Given the description of an element on the screen output the (x, y) to click on. 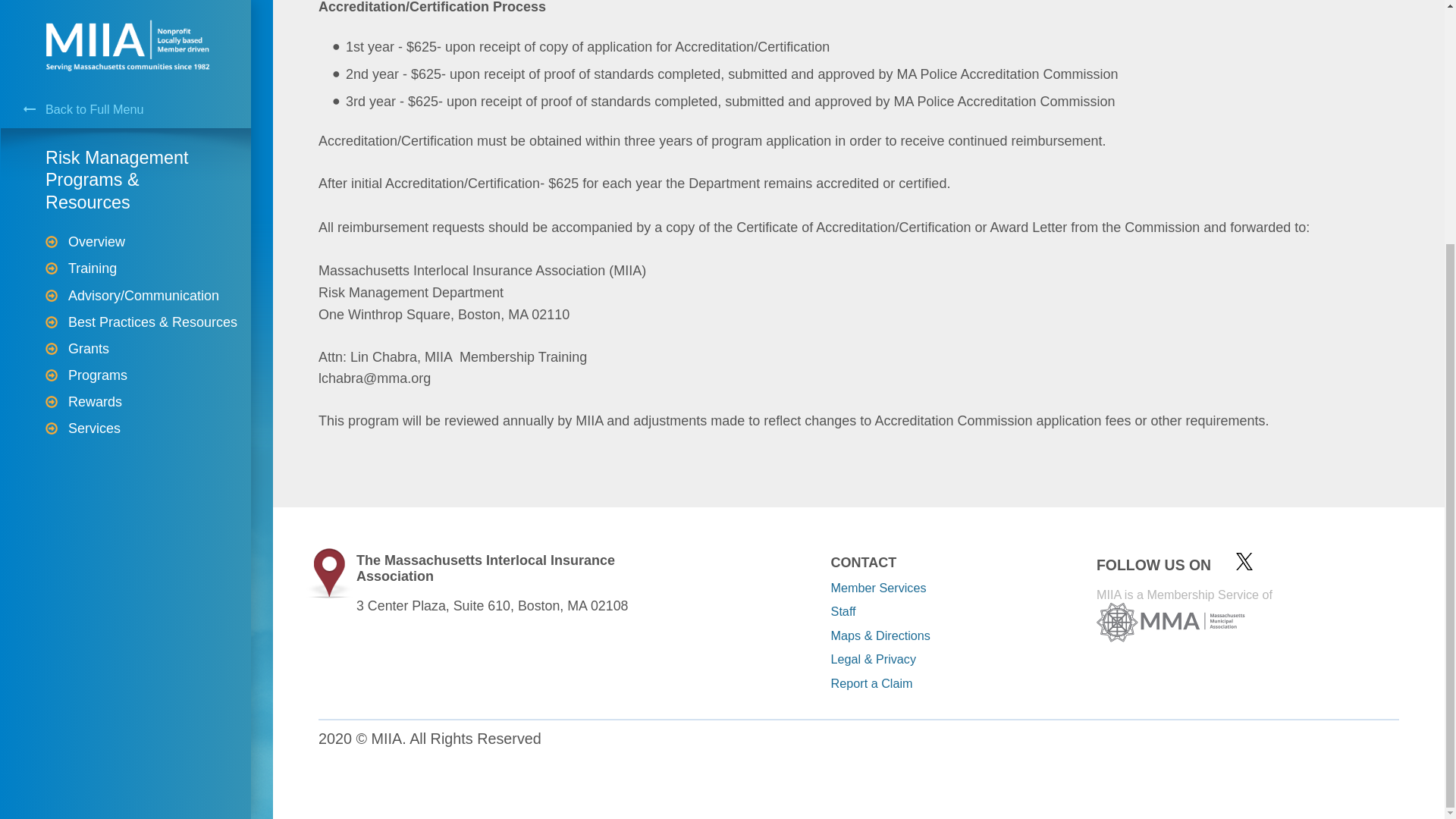
My MIIA (147, 149)
